Given the description of an element on the screen output the (x, y) to click on. 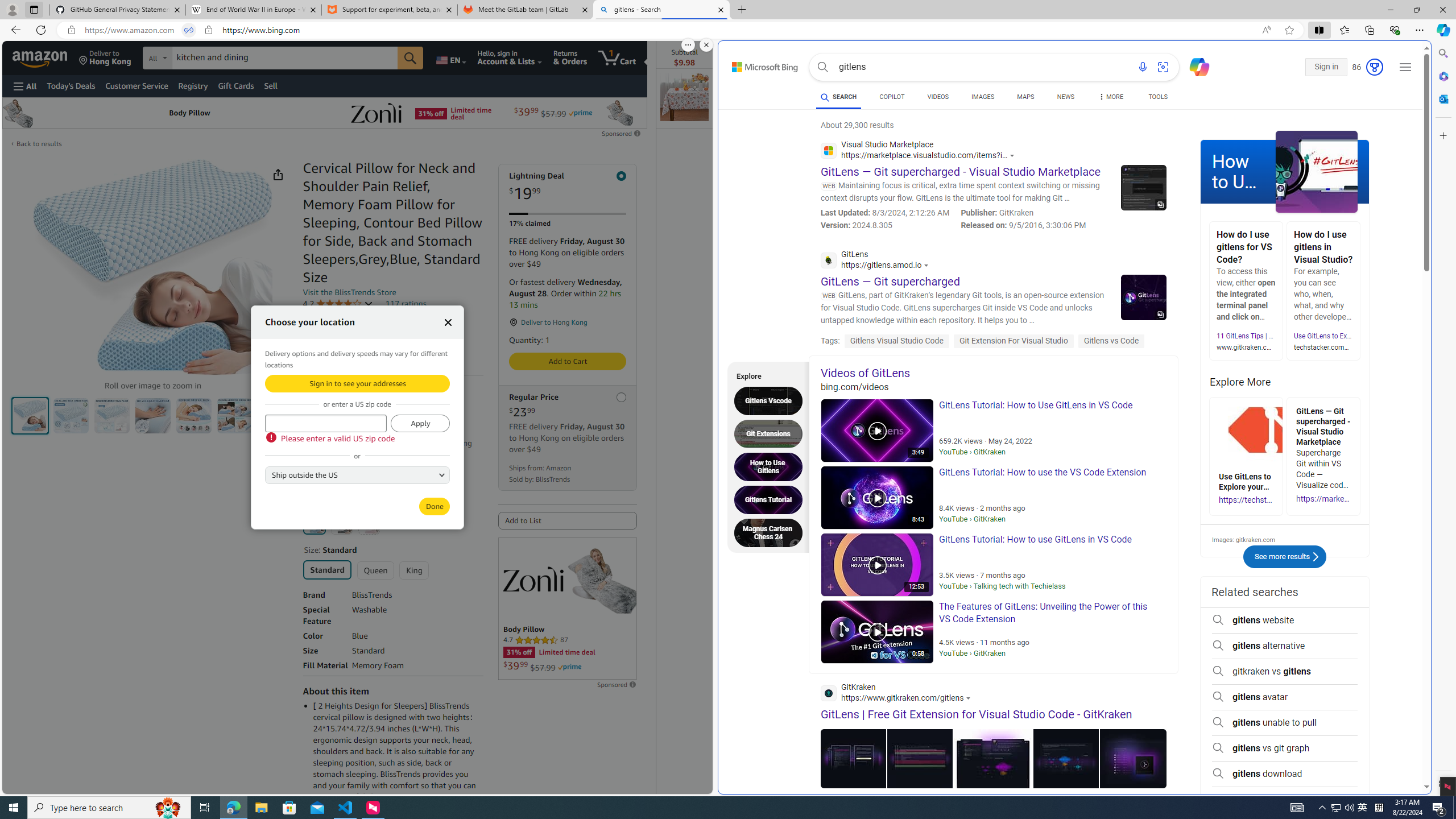
Visit the BlissTrends Store (349, 292)
Go (410, 57)
Search using an image (1163, 66)
Learn more about Amazon pricing and savings (360, 427)
Add to Cart (567, 360)
Done (434, 506)
gitlens unable to pull (1283, 722)
Publisher: GitKraken (1023, 213)
Today's Deals (71, 85)
GitLens Tutorial: How to use GitLens in VS Code (877, 564)
